Given the description of an element on the screen output the (x, y) to click on. 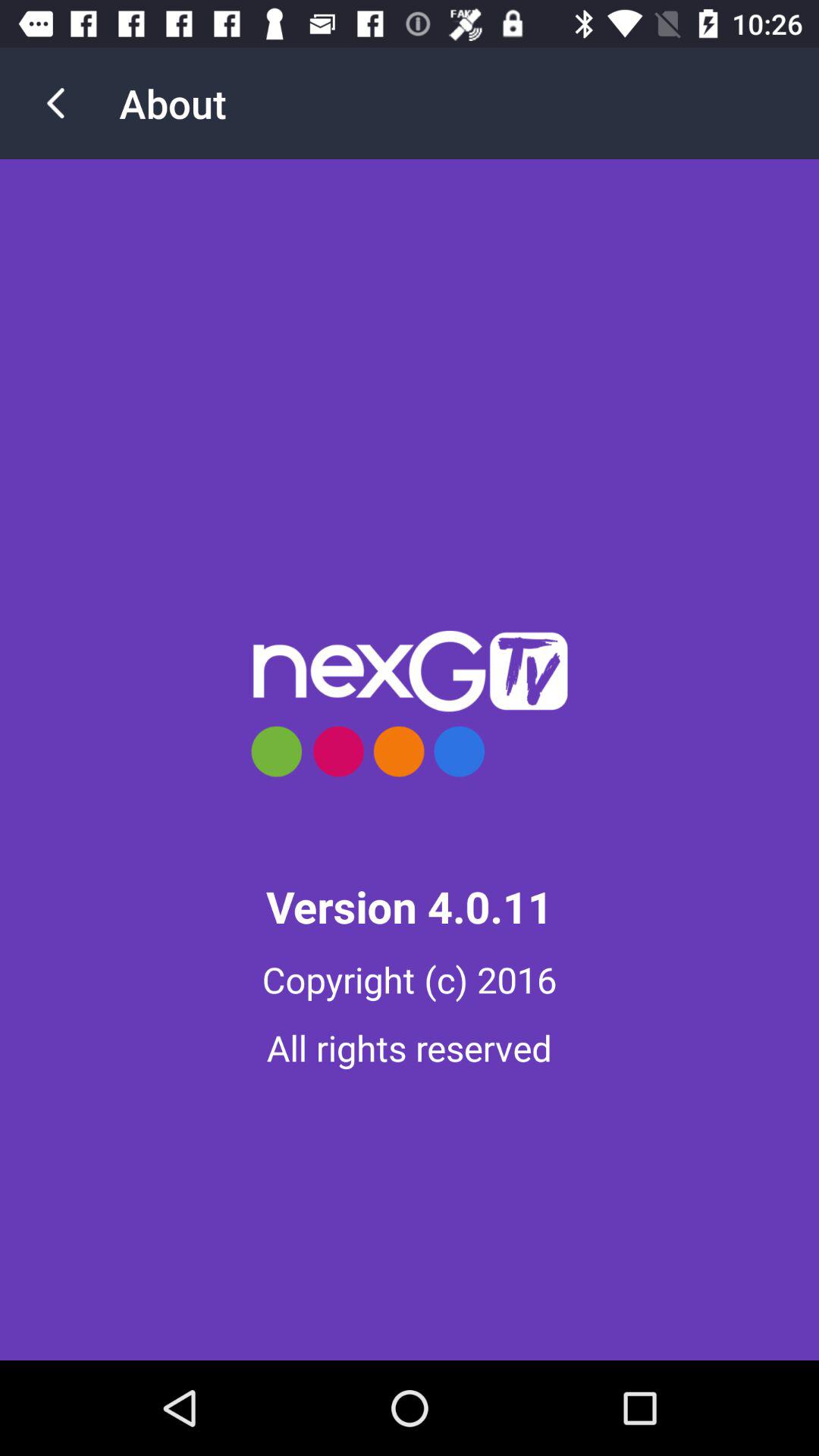
click the item next to about app (55, 103)
